Given the description of an element on the screen output the (x, y) to click on. 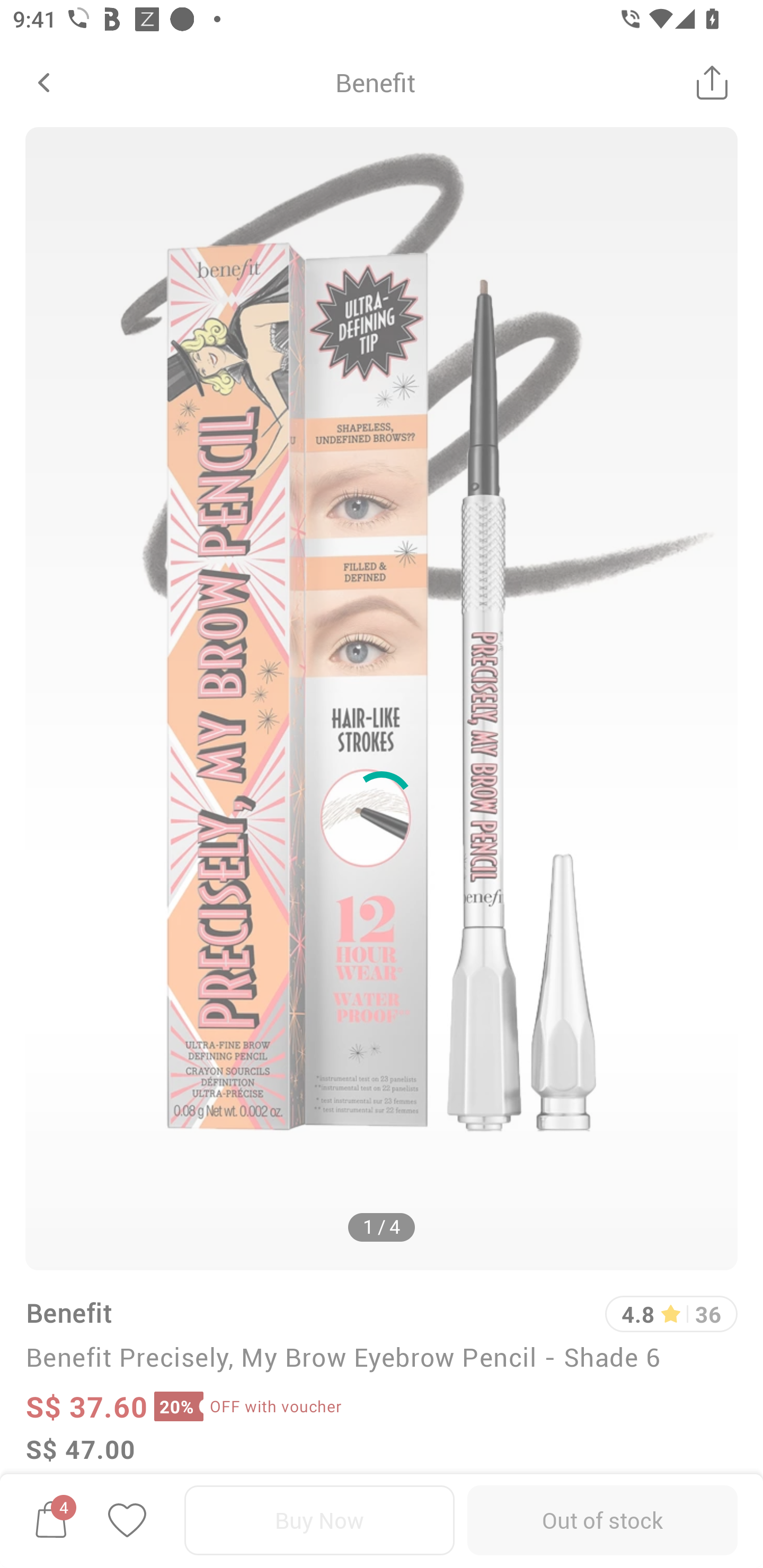
Benefit (375, 82)
Share this Product (711, 82)
Benefit (68, 1312)
4.8 36 (671, 1313)
Out of stock (601, 1519)
4 (50, 1520)
